Given the description of an element on the screen output the (x, y) to click on. 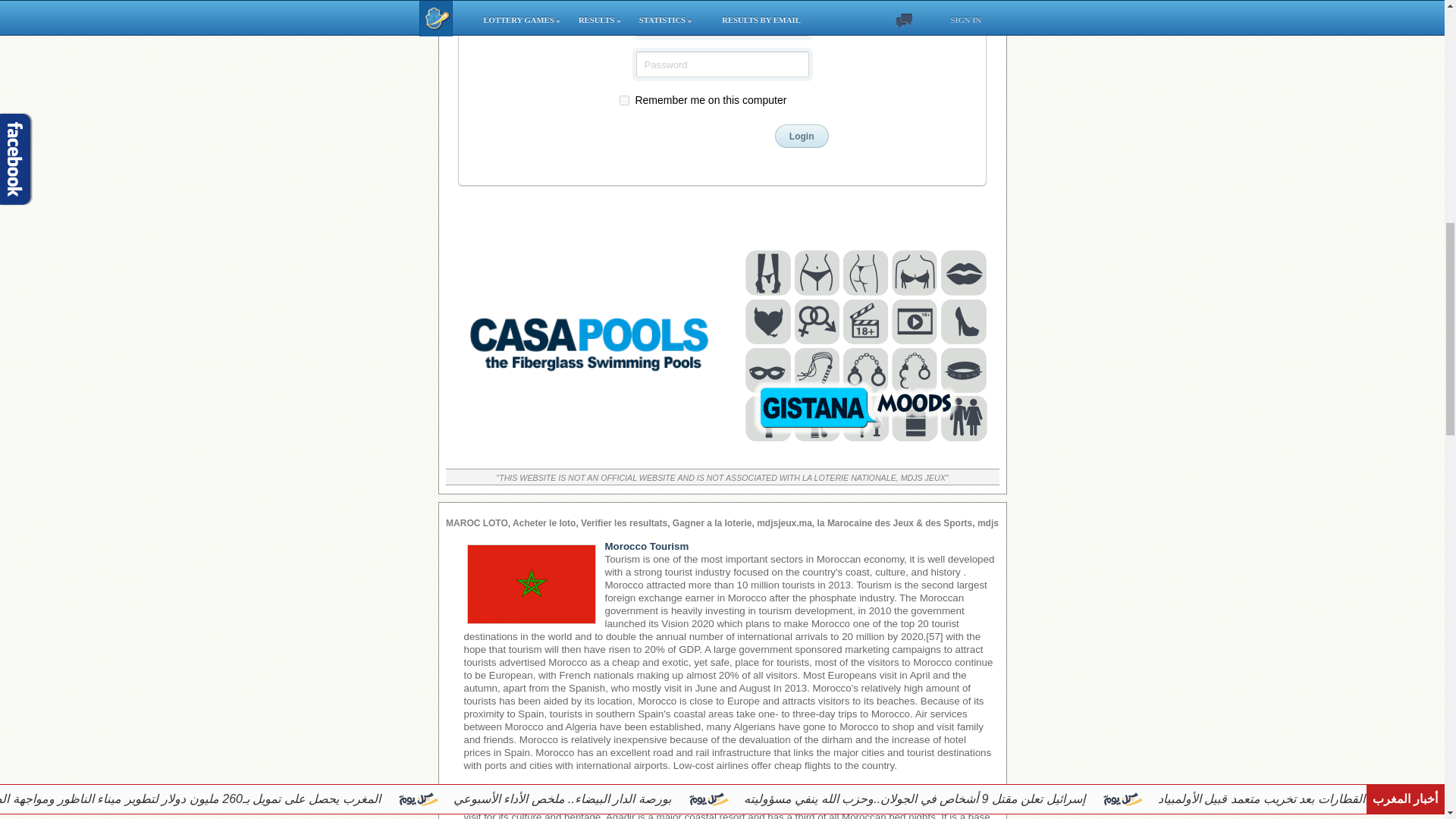
Login (801, 136)
on (623, 100)
